Given the description of an element on the screen output the (x, y) to click on. 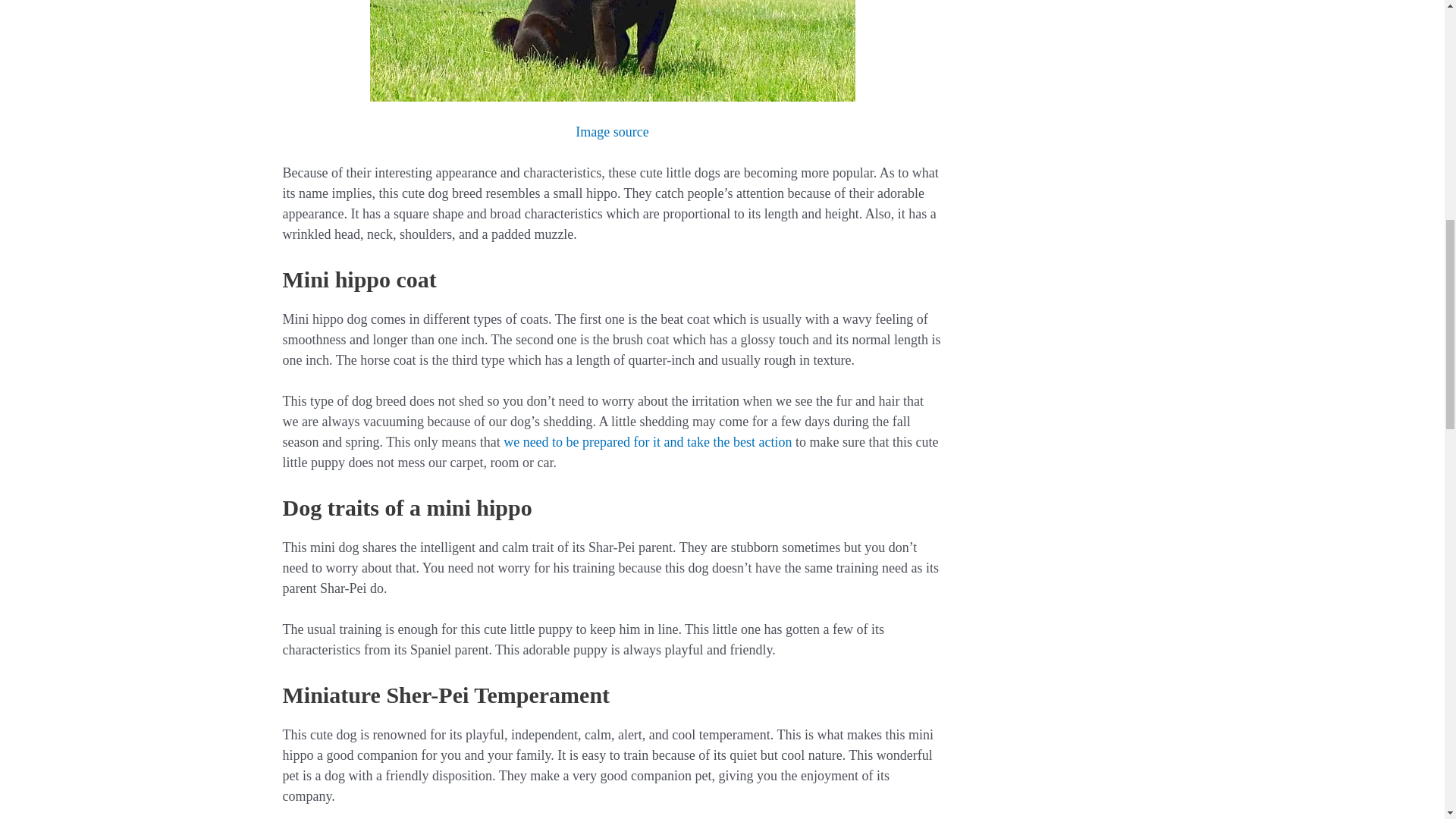
Scroll back to top (1406, 719)
